Given the description of an element on the screen output the (x, y) to click on. 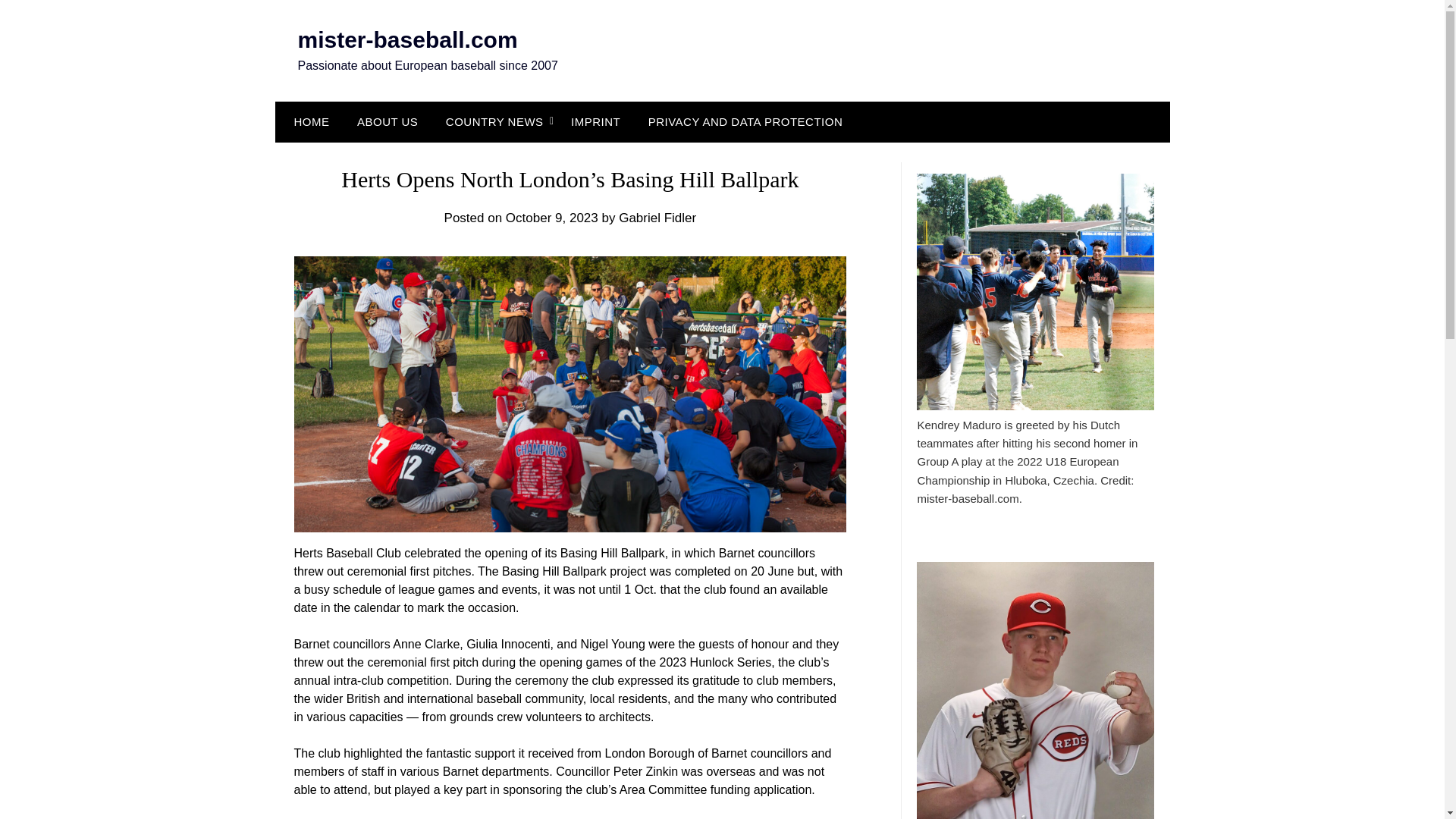
IMPRINT (595, 121)
PRIVACY AND DATA PROTECTION (746, 121)
HOME (307, 121)
ABOUT US (387, 121)
COUNTRY NEWS (494, 121)
mister-baseball.com (406, 39)
